Given the description of an element on the screen output the (x, y) to click on. 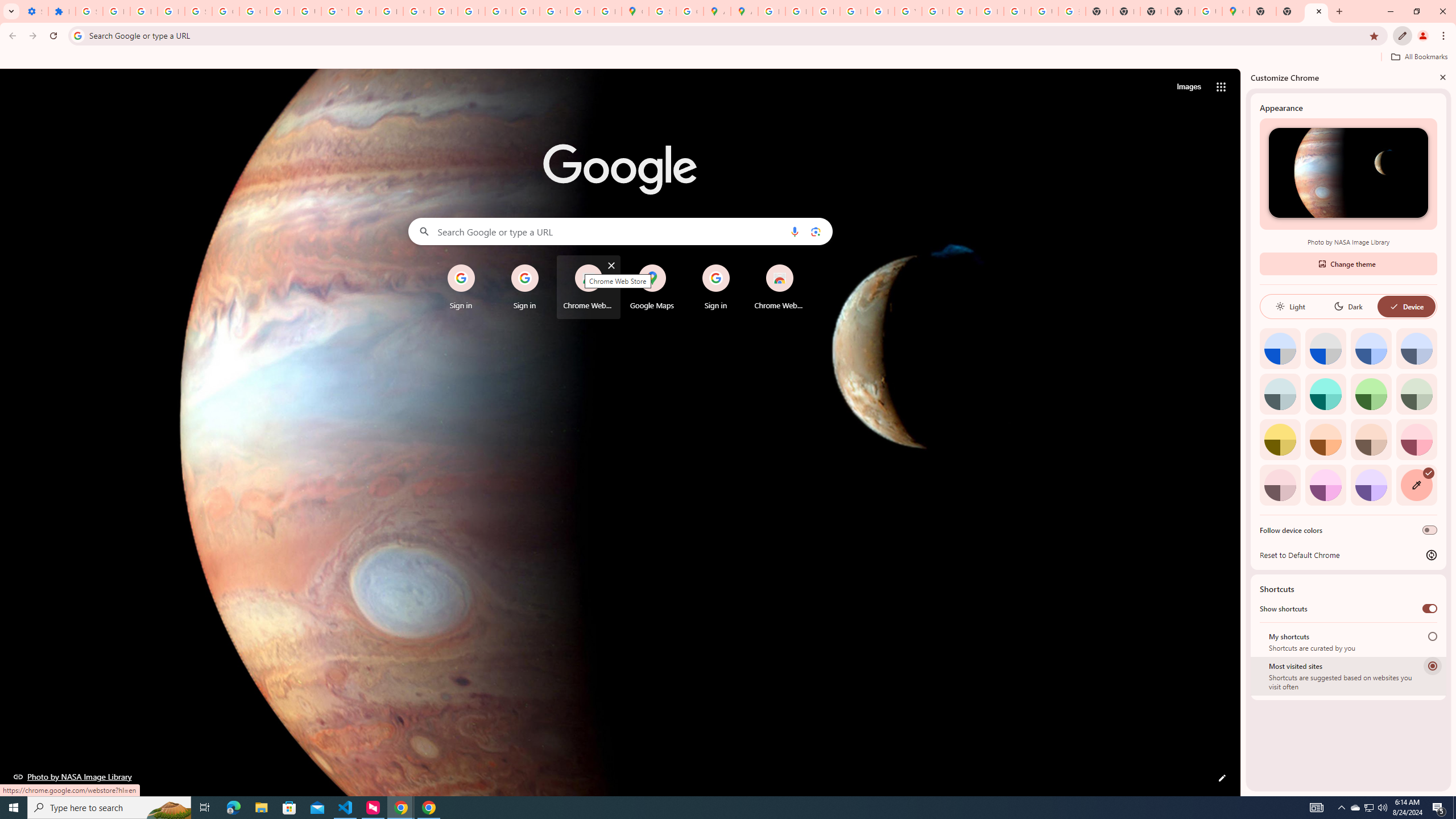
Sign in - Google Accounts (88, 11)
Delete photos & videos - Computer - Google Photos Help (116, 11)
AutomationID: svg (1428, 472)
Device (1406, 305)
Change theme (1348, 263)
Side Panel Resize Handle (1242, 431)
My shortcuts (1432, 636)
Dark (1348, 305)
Green (1371, 393)
